Given the description of an element on the screen output the (x, y) to click on. 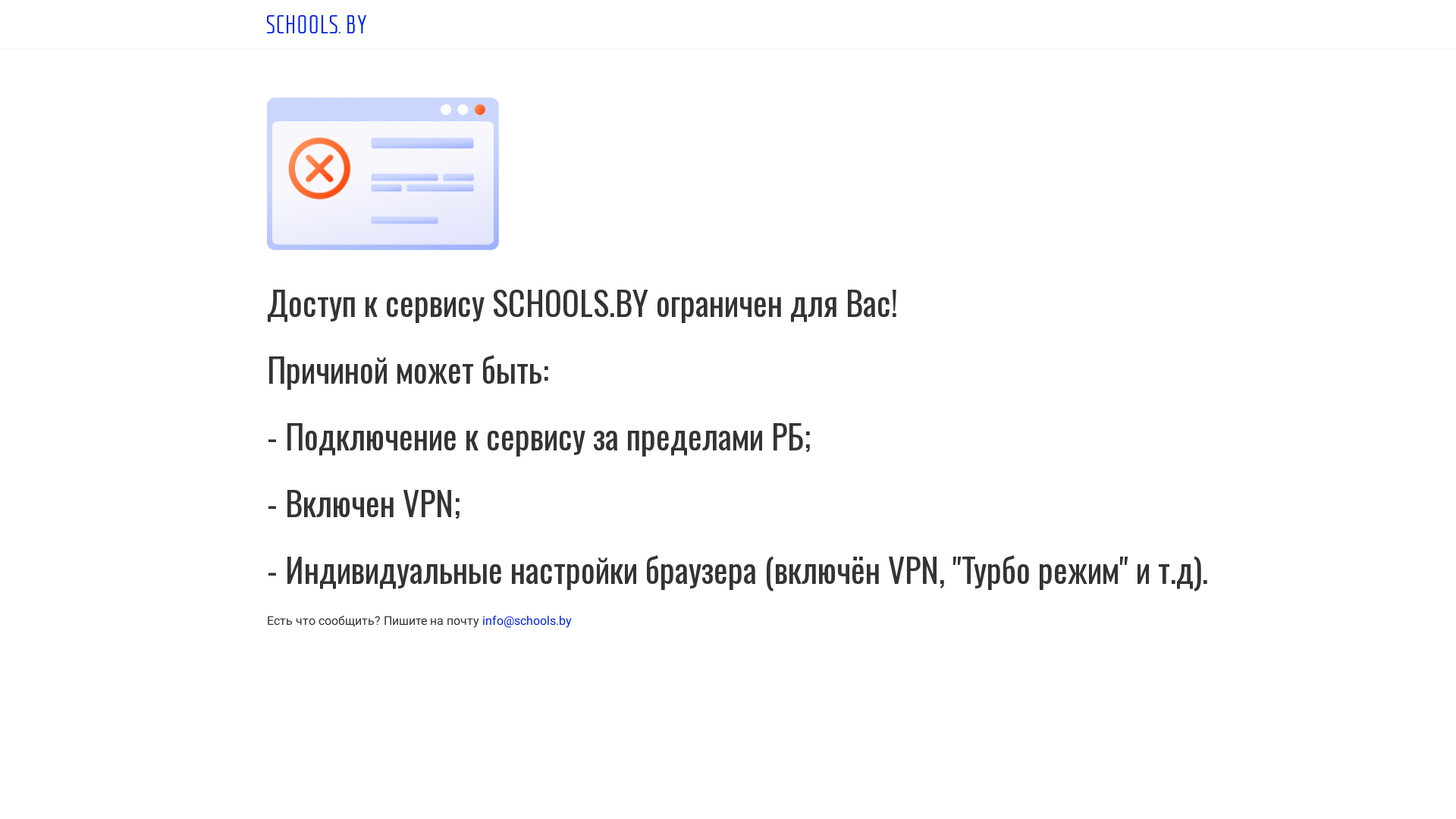
info@schools.by Element type: text (526, 620)
